Given the description of an element on the screen output the (x, y) to click on. 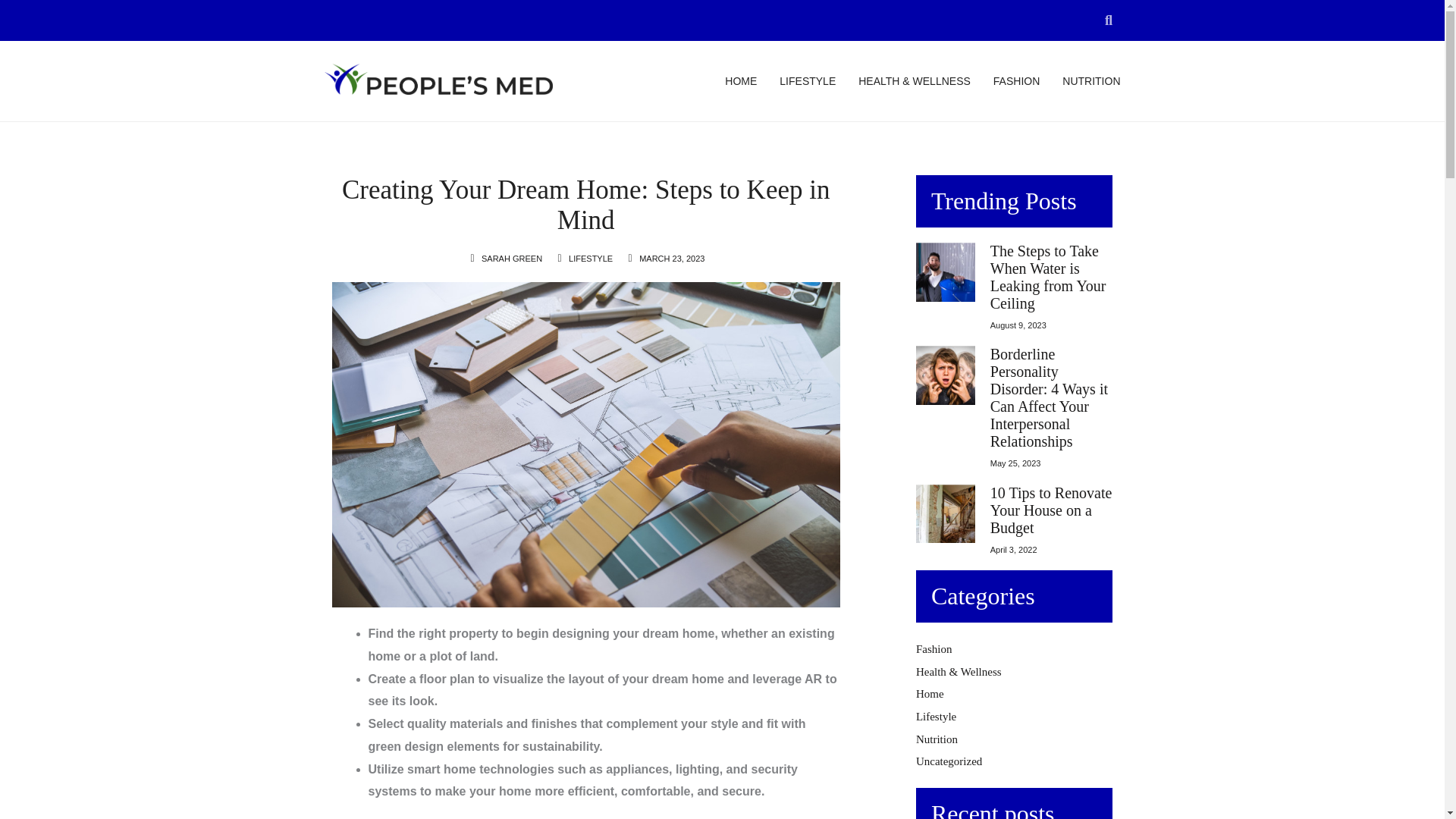
HOME (741, 80)
NUTRITION (1090, 80)
FASHION (1015, 80)
LIFESTYLE (806, 80)
